Given the description of an element on the screen output the (x, y) to click on. 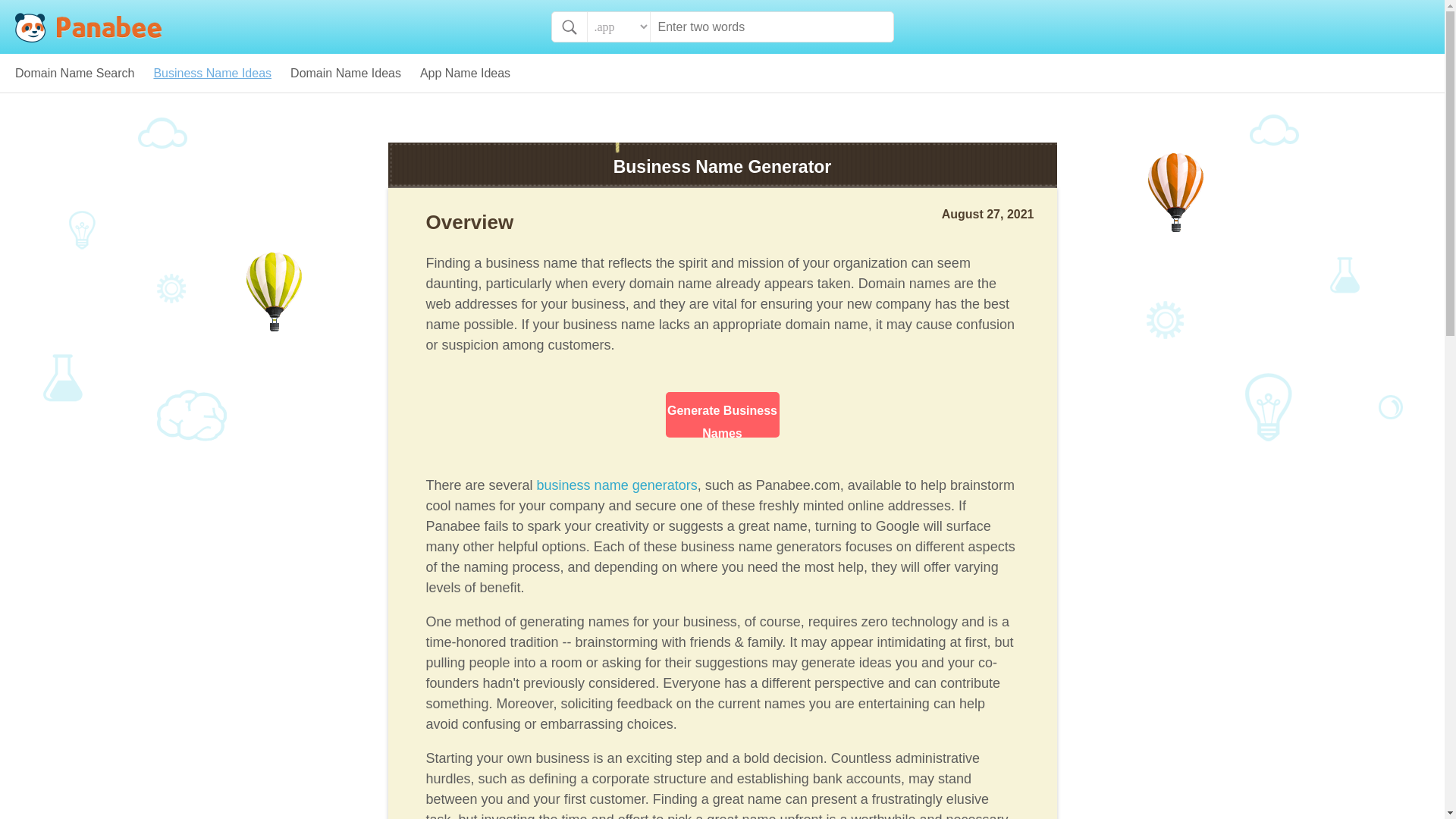
Last Modified (987, 214)
Generate Business Names (721, 414)
Domain Name Ideas (345, 72)
Business Name Ideas (211, 72)
Domain Name Search (73, 72)
App Name Ideas (465, 72)
Choose website extension (618, 26)
business name generators (617, 485)
